Given the description of an element on the screen output the (x, y) to click on. 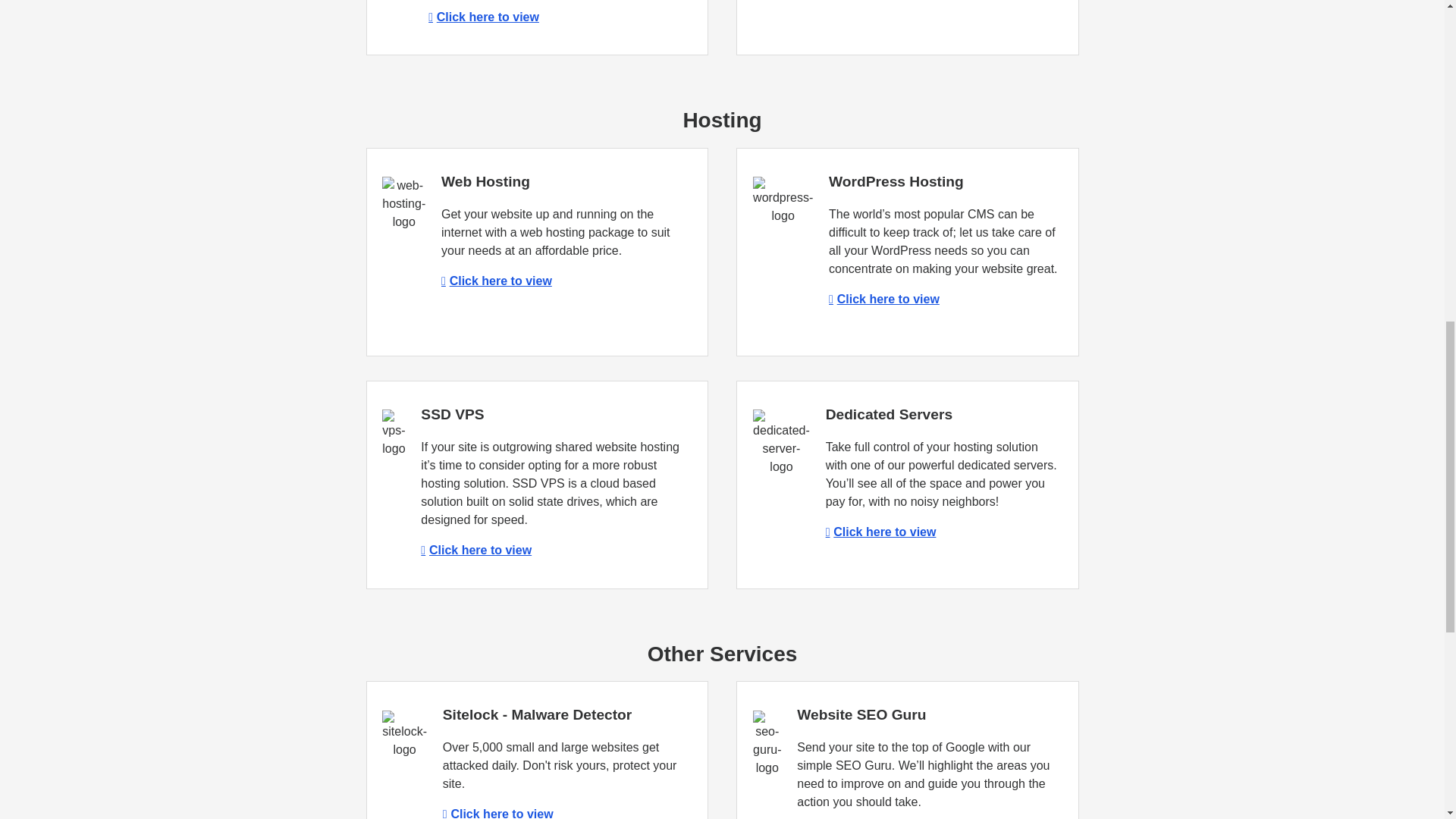
Click here to view (880, 531)
Click here to view (497, 813)
Click here to view (475, 549)
Click here to view (483, 16)
Click here to view (883, 298)
Click here to view (496, 280)
